Given the description of an element on the screen output the (x, y) to click on. 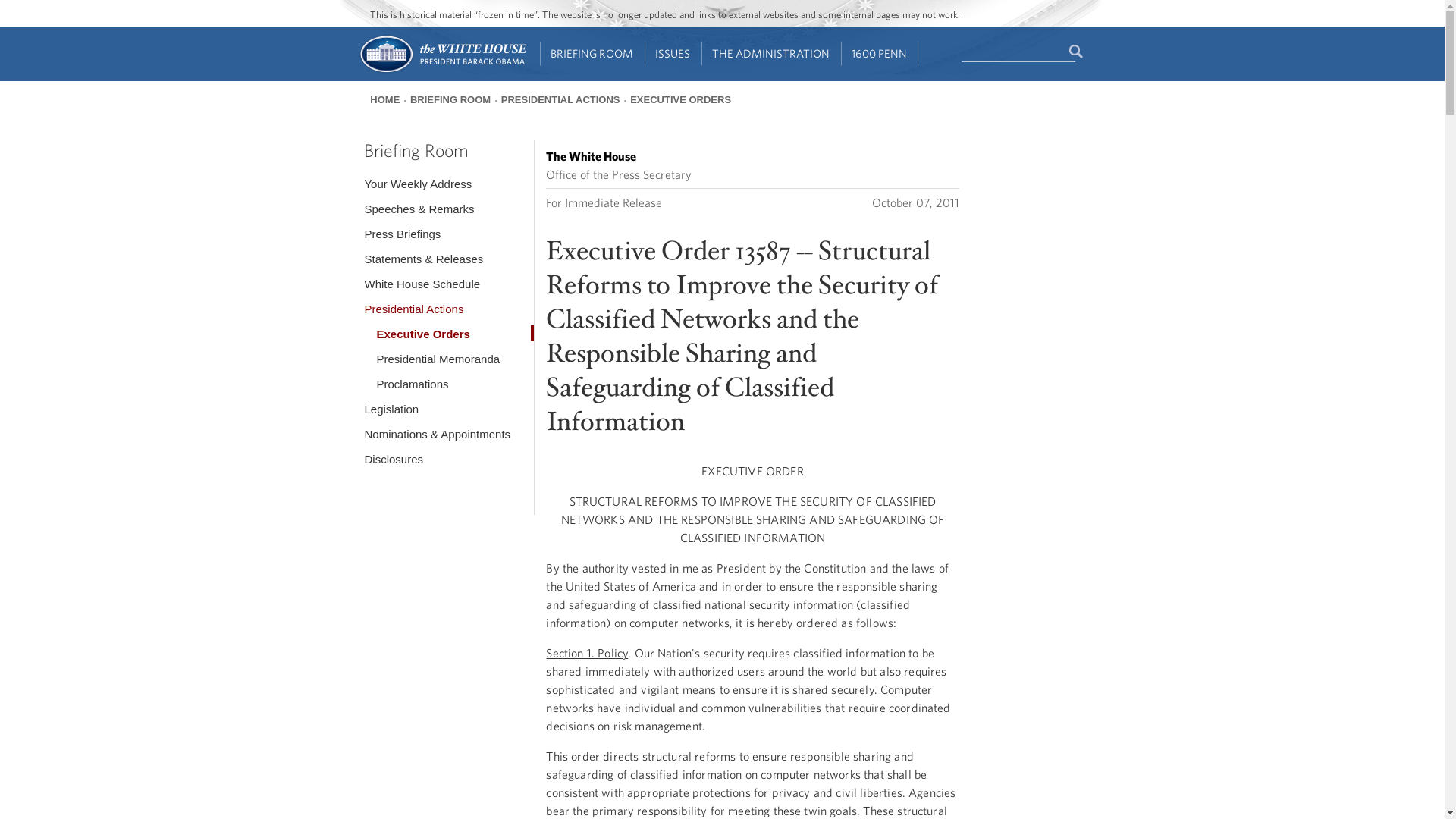
ISSUES (673, 53)
Home (441, 70)
Search (1076, 51)
BRIEFING ROOM (592, 53)
Enter the terms you wish to search for. (1017, 52)
